Given the description of an element on the screen output the (x, y) to click on. 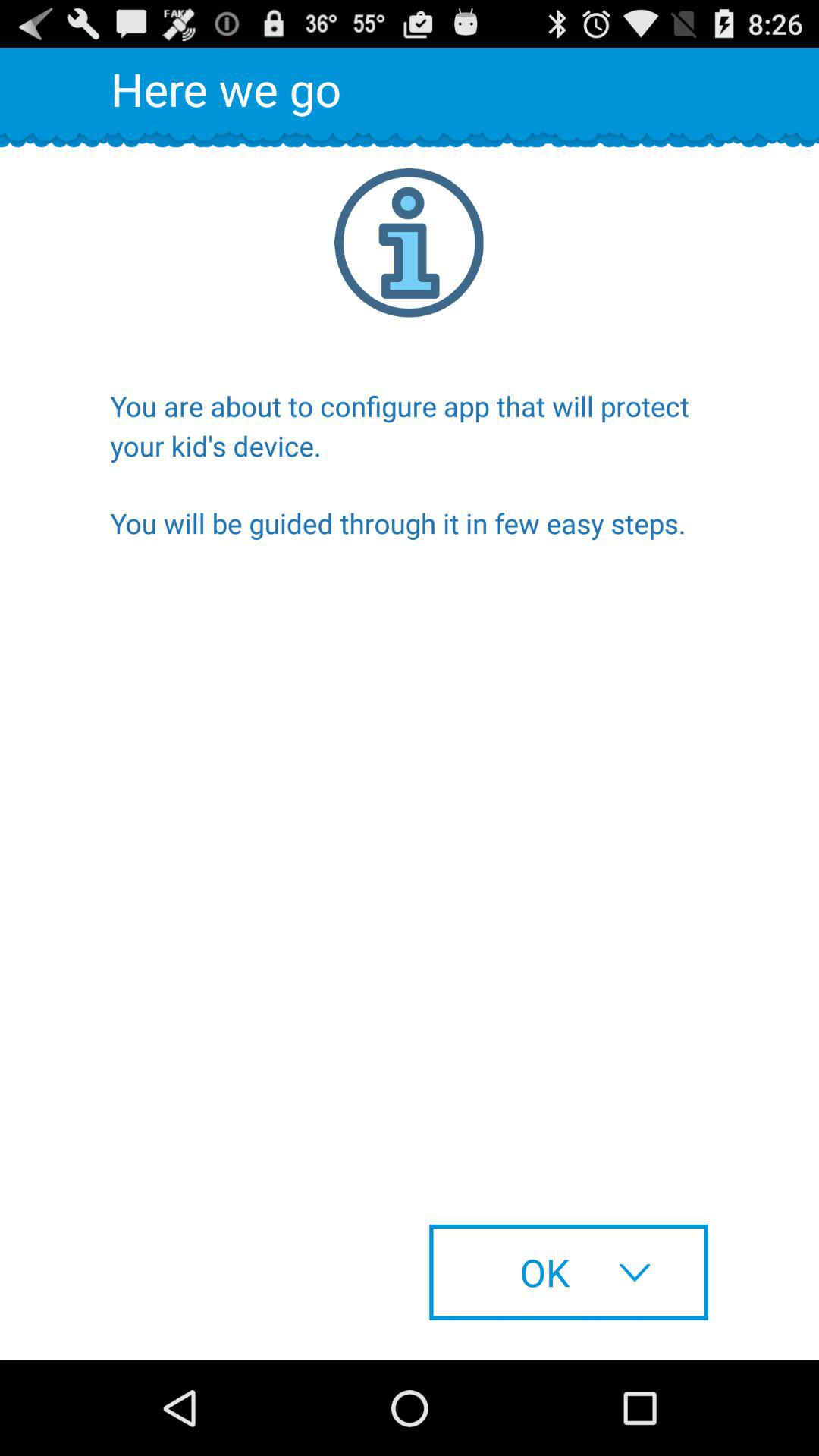
flip until ok button (568, 1272)
